Given the description of an element on the screen output the (x, y) to click on. 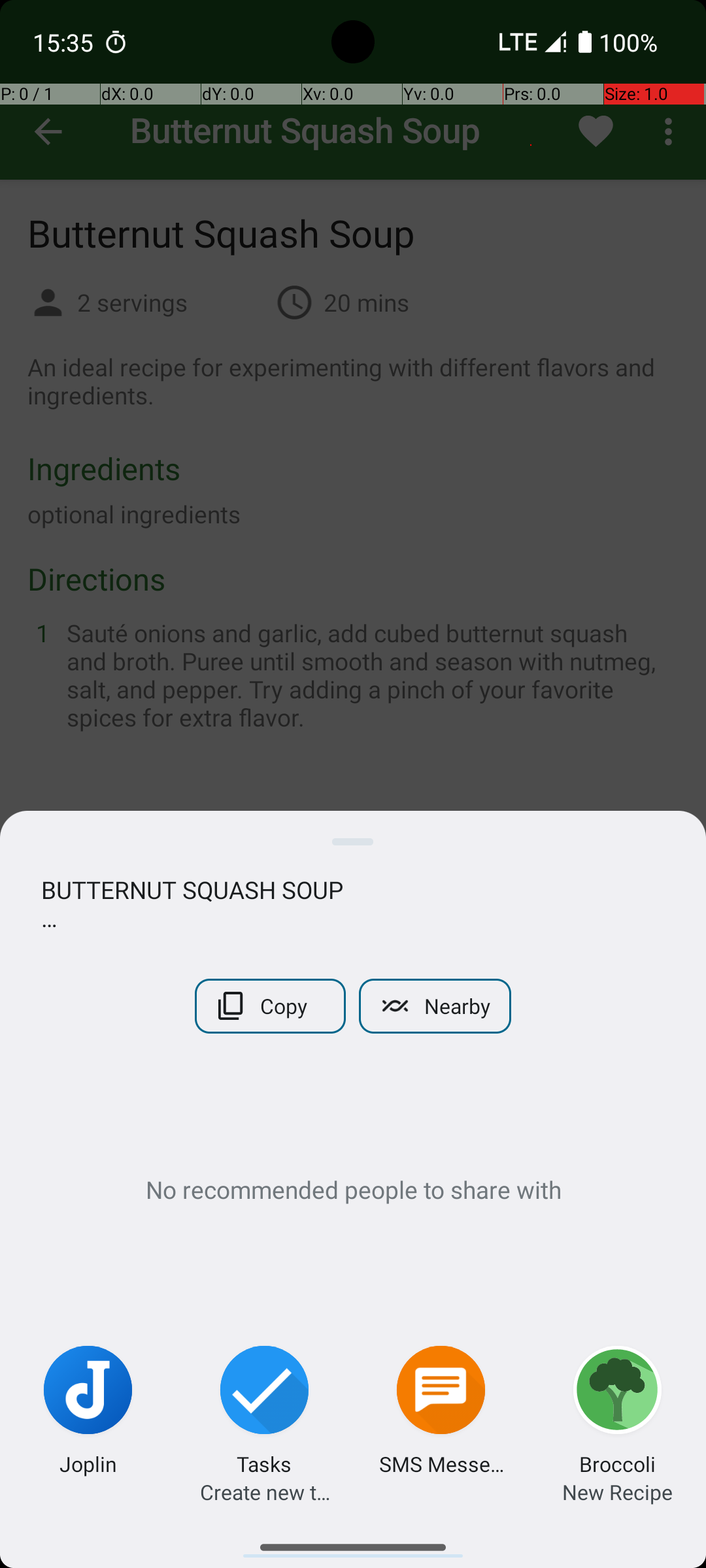
BUTTERNUT SQUASH SOUP

Servings: 2 servings
Time: 20 mins

An ideal recipe for experimenting with different flavors and ingredients.

Ingredients:
- optional ingredients

Directions:
1. Sauté onions and garlic, add cubed butternut squash and broth. Puree until smooth and season with nutmeg, salt, and pepper. Try adding a pinch of your favorite spices for extra flavor.

Shared with https://play.google.com/store/apps/details?id=com.flauschcode.broccoli Element type: android.widget.TextView (352, 903)
